Given the description of an element on the screen output the (x, y) to click on. 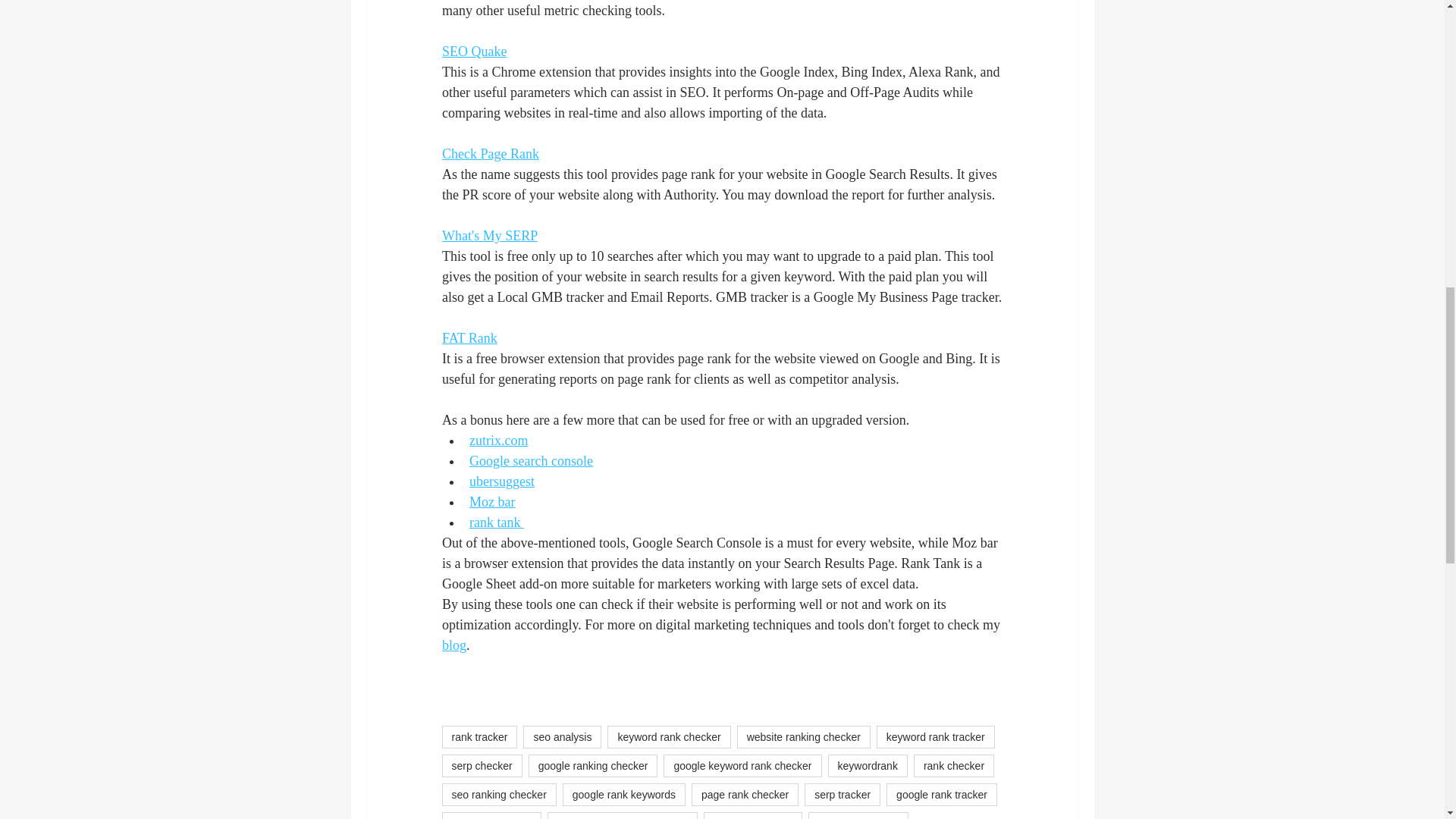
What's My SERP (489, 235)
FAT Rank (468, 337)
Check Page Rank (489, 153)
SEO Quake (473, 51)
Google search console (530, 460)
zutrix.com (497, 440)
Moz bar (490, 501)
ubersuggest (501, 481)
